Given the description of an element on the screen output the (x, y) to click on. 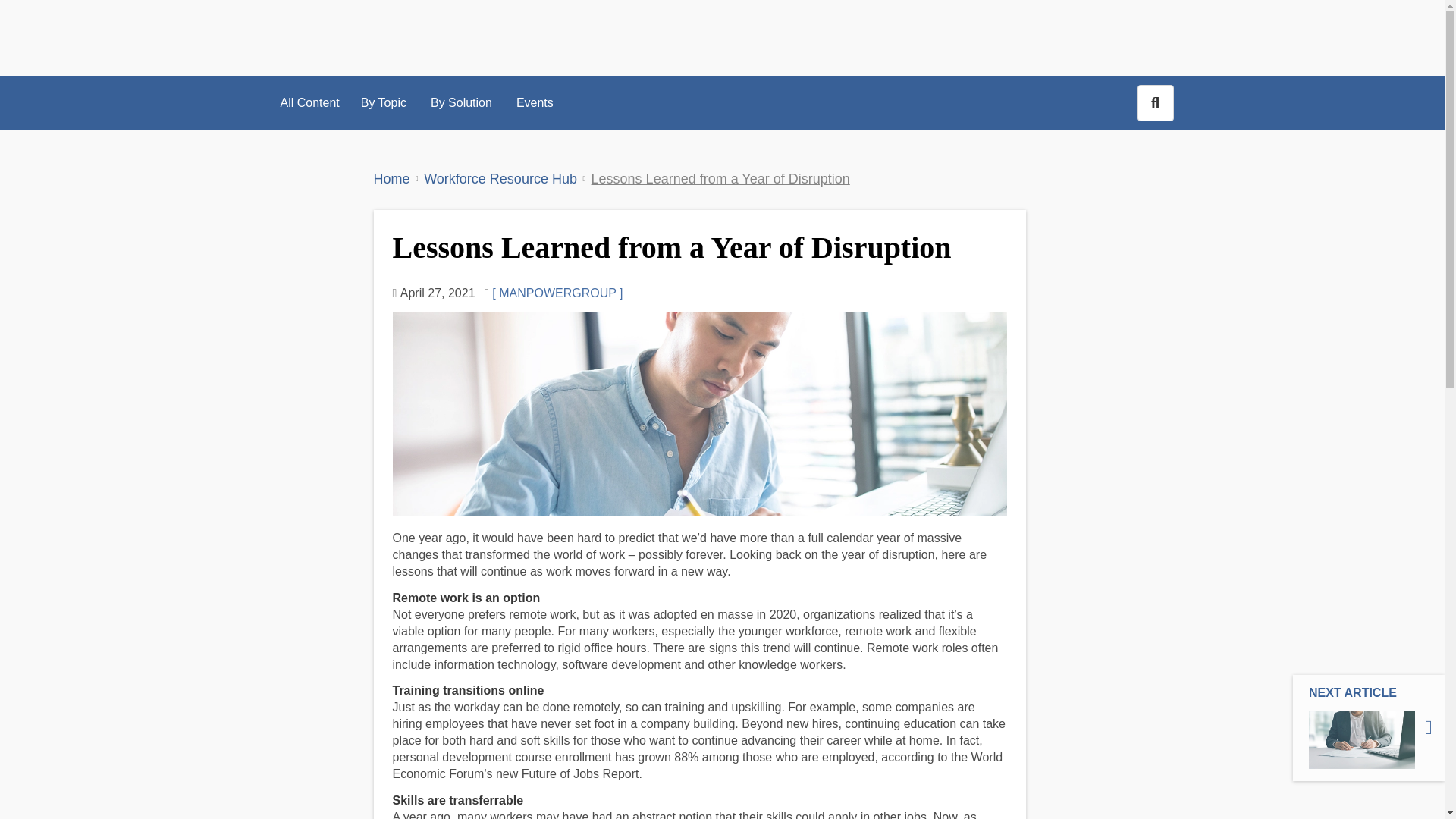
Workforce Resource Hub (534, 102)
Author (499, 178)
Published Date (383, 102)
Open Search Box (553, 293)
Home (434, 293)
Open search box (1155, 103)
All Content (390, 178)
